Given the description of an element on the screen output the (x, y) to click on. 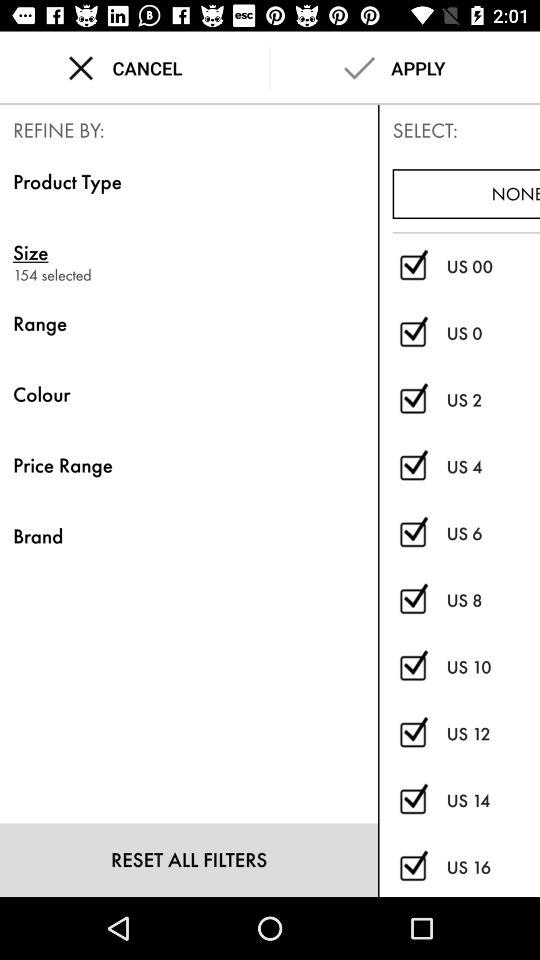
click on the option apply (405, 67)
